Given the description of an element on the screen output the (x, y) to click on. 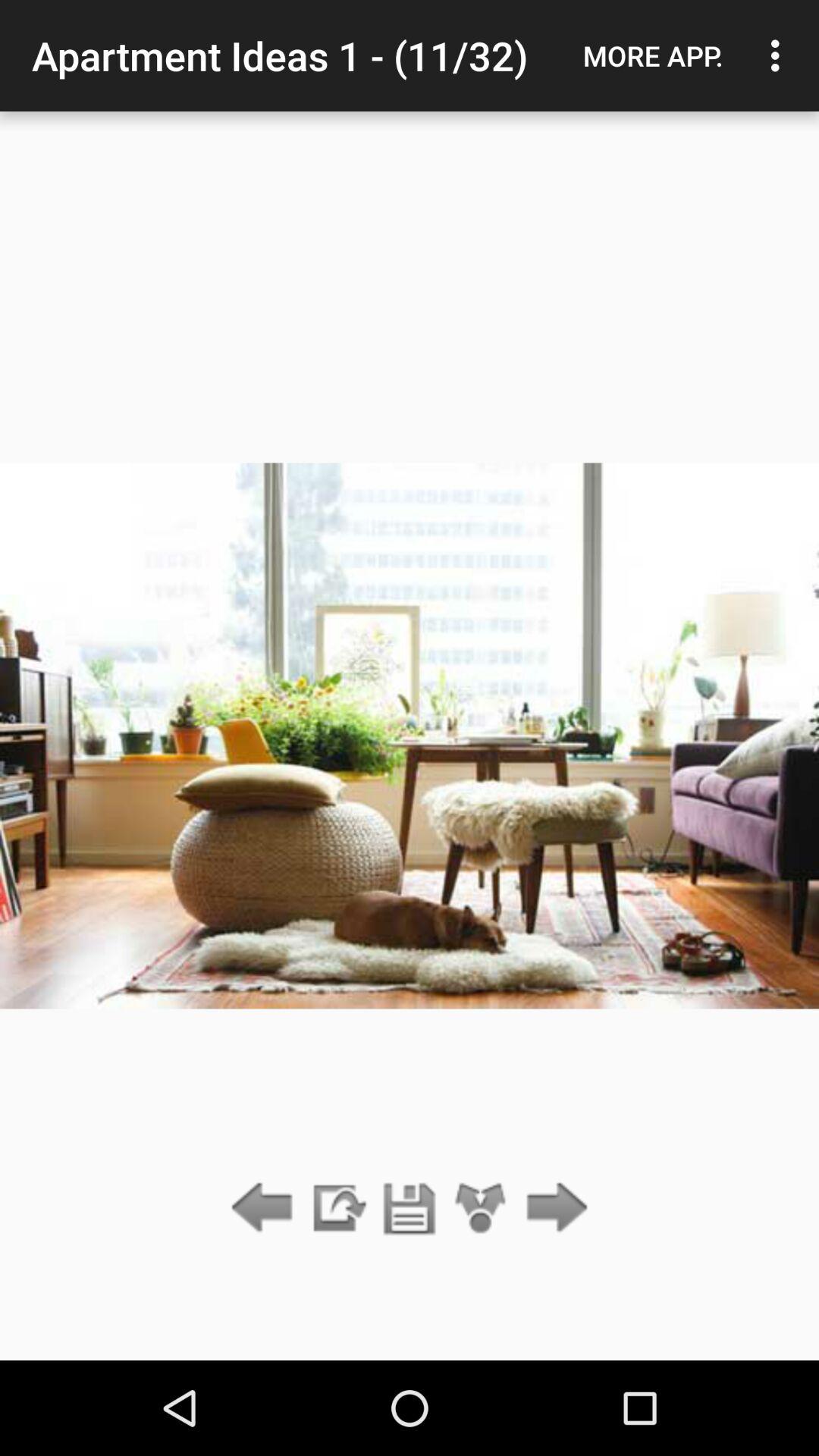
press the icon next to more app. item (779, 55)
